Given the description of an element on the screen output the (x, y) to click on. 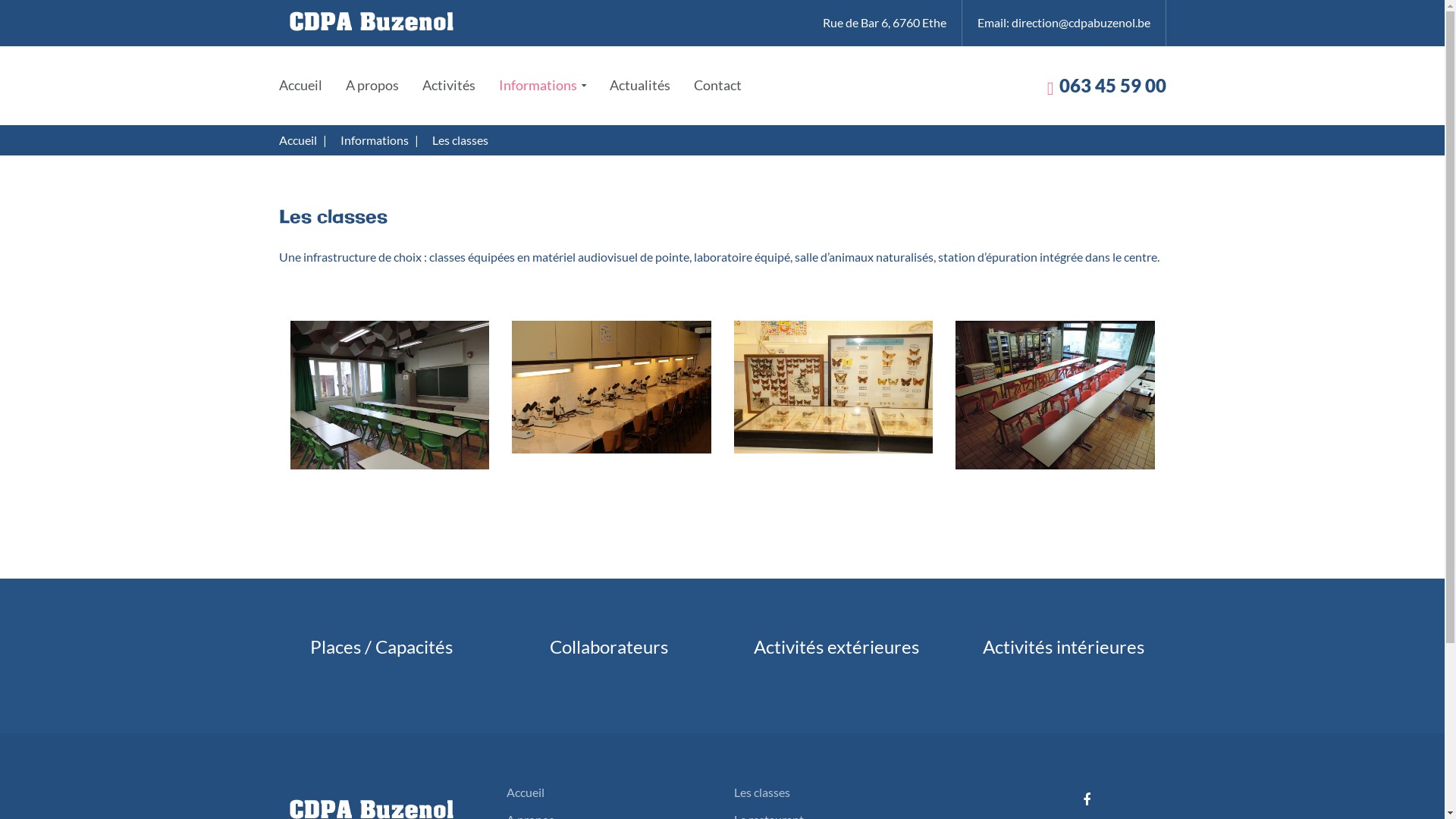
Accueil Element type: text (300, 84)
Accueil Element type: text (525, 791)
A propos Element type: text (371, 84)
Les classes Element type: text (762, 791)
Accueil Element type: text (297, 139)
063 45 59 00 Element type: text (1111, 85)
Email: direction@cdpabuzenol.be Element type: text (1062, 22)
Facebook Element type: hover (1086, 799)
Contact Element type: text (716, 84)
CDPA Buzenol Element type: hover (370, 20)
